Given the description of an element on the screen output the (x, y) to click on. 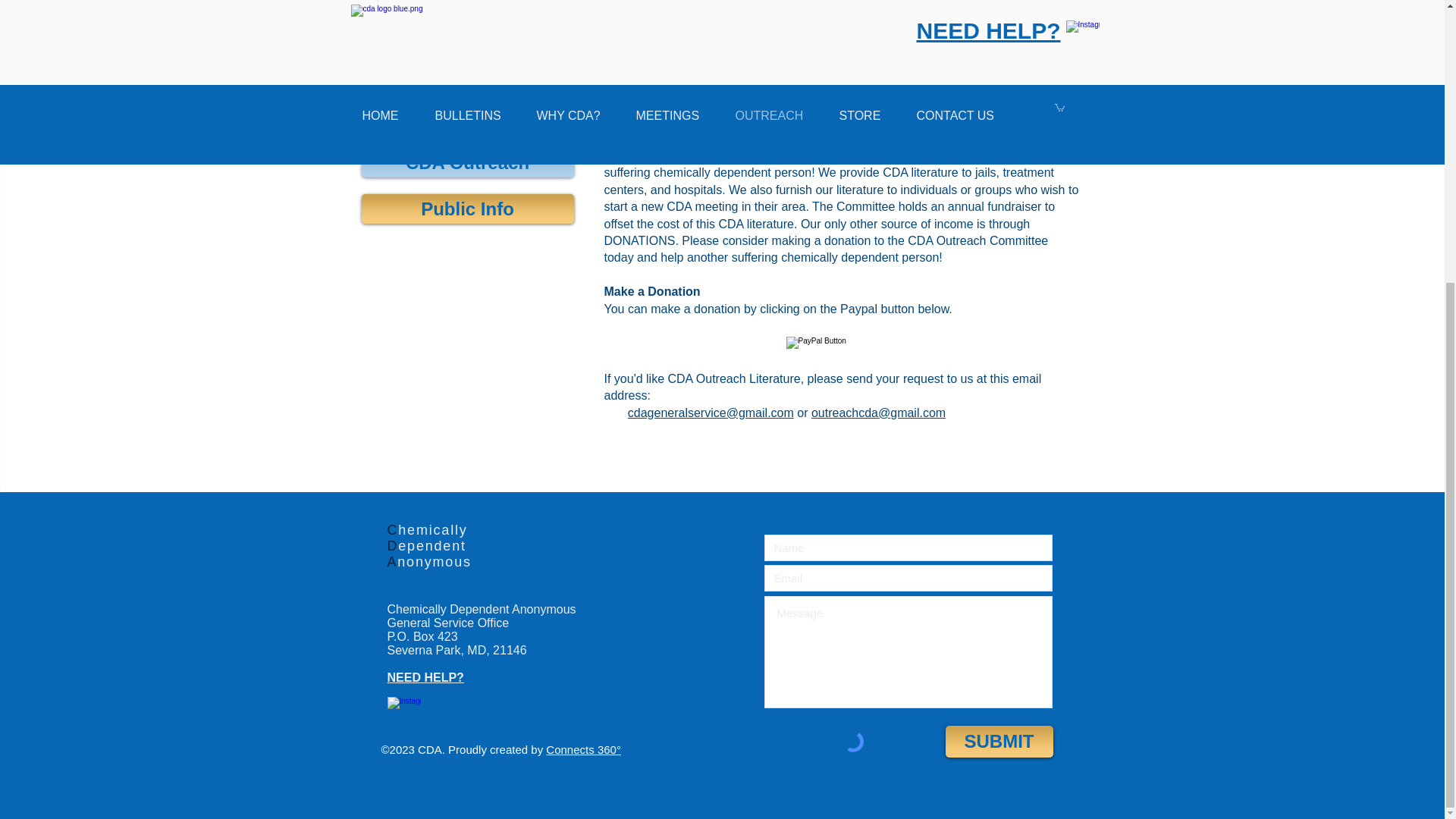
CDA Outreach (467, 162)
SUBMIT (998, 741)
NEED HELP? (425, 676)
Public Info (467, 208)
